Given the description of an element on the screen output the (x, y) to click on. 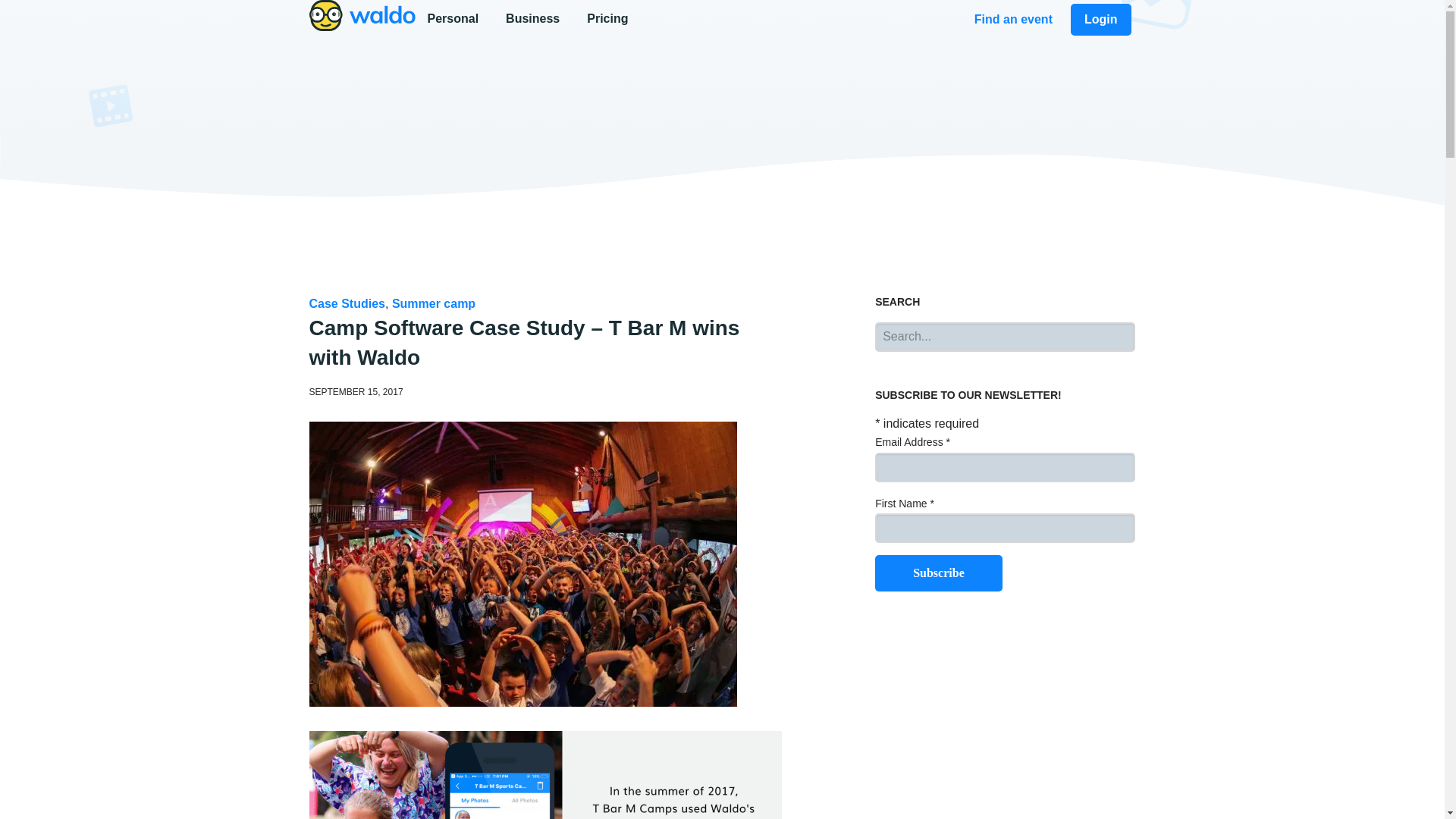
Subscribe (939, 573)
Personal (721, 19)
Search for: (454, 18)
